Given the description of an element on the screen output the (x, y) to click on. 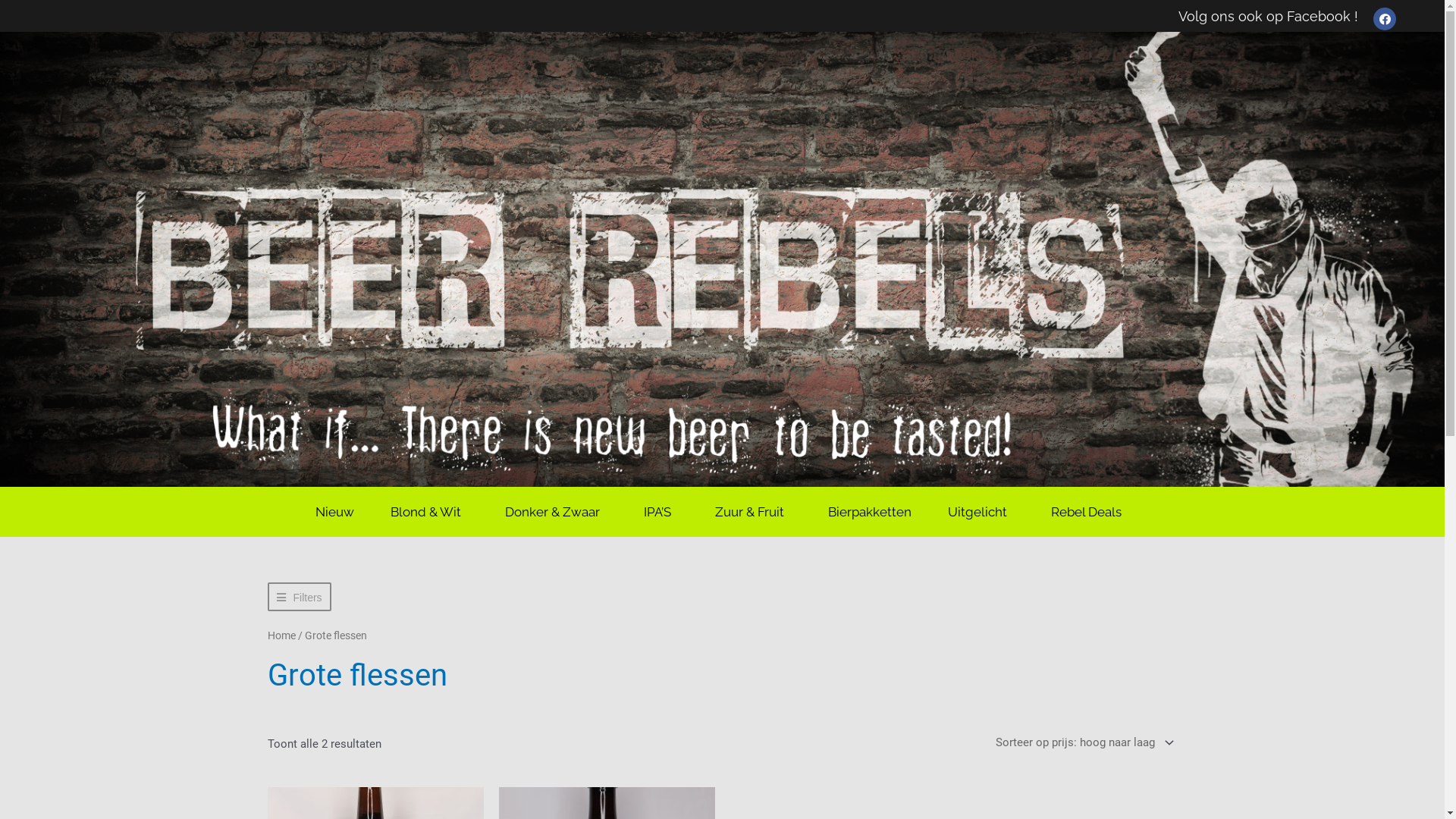
Home Element type: text (280, 635)
Blond & Wit Element type: text (429, 511)
Nieuw Element type: text (334, 511)
Uitgelicht Element type: text (980, 511)
Zuur & Fruit Element type: text (752, 511)
Rebel Deals Element type: text (1089, 511)
Bierpakketten Element type: text (869, 511)
Donker & Zwaar Element type: text (555, 511)
